Given the description of an element on the screen output the (x, y) to click on. 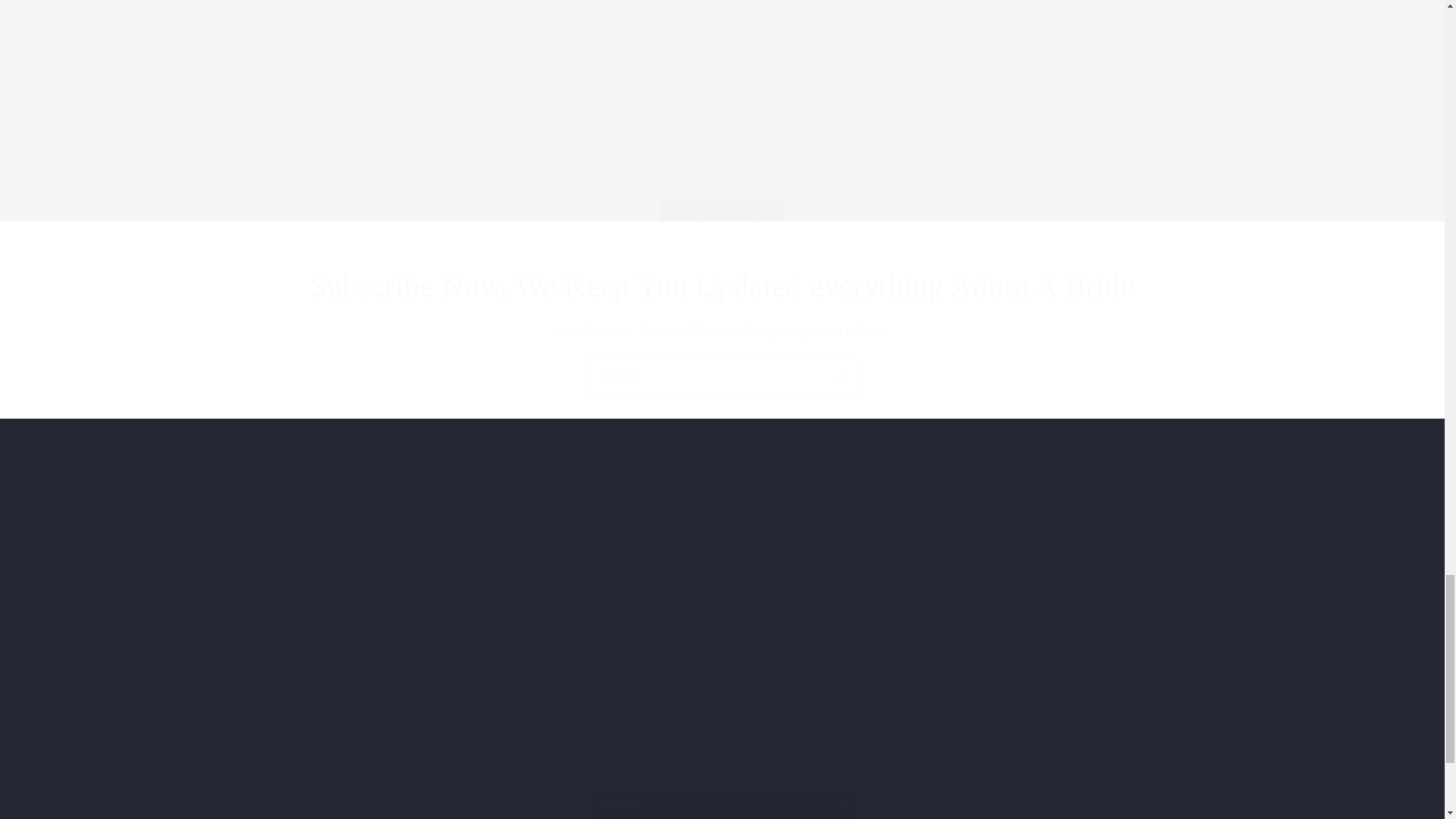
Frequently  Asked Question (926, 154)
Subscribe Now, We Keep You Updated everything Adorn A Bride (721, 286)
Email (722, 375)
